Given the description of an element on the screen output the (x, y) to click on. 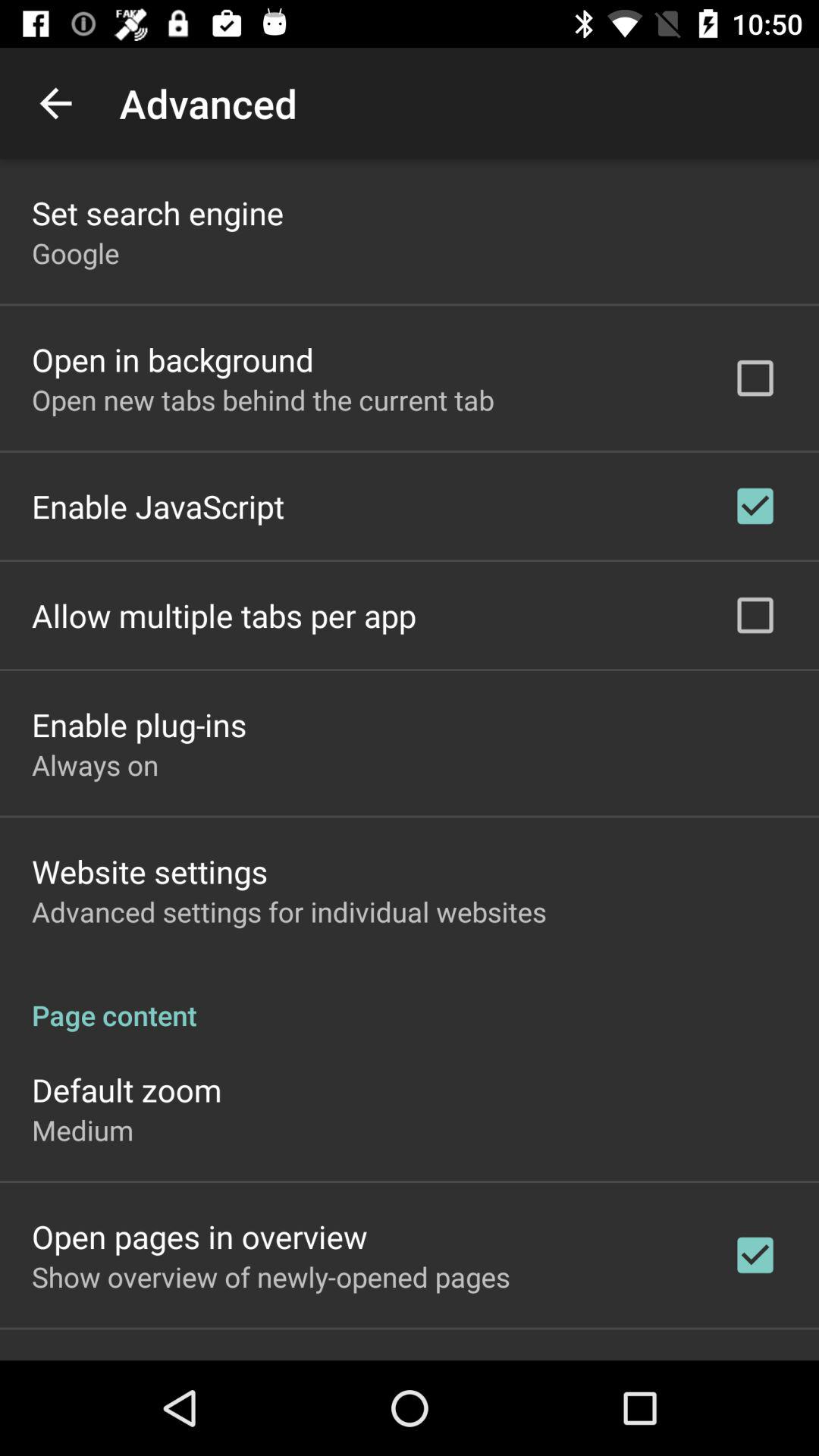
press the advanced settings for (288, 911)
